Given the description of an element on the screen output the (x, y) to click on. 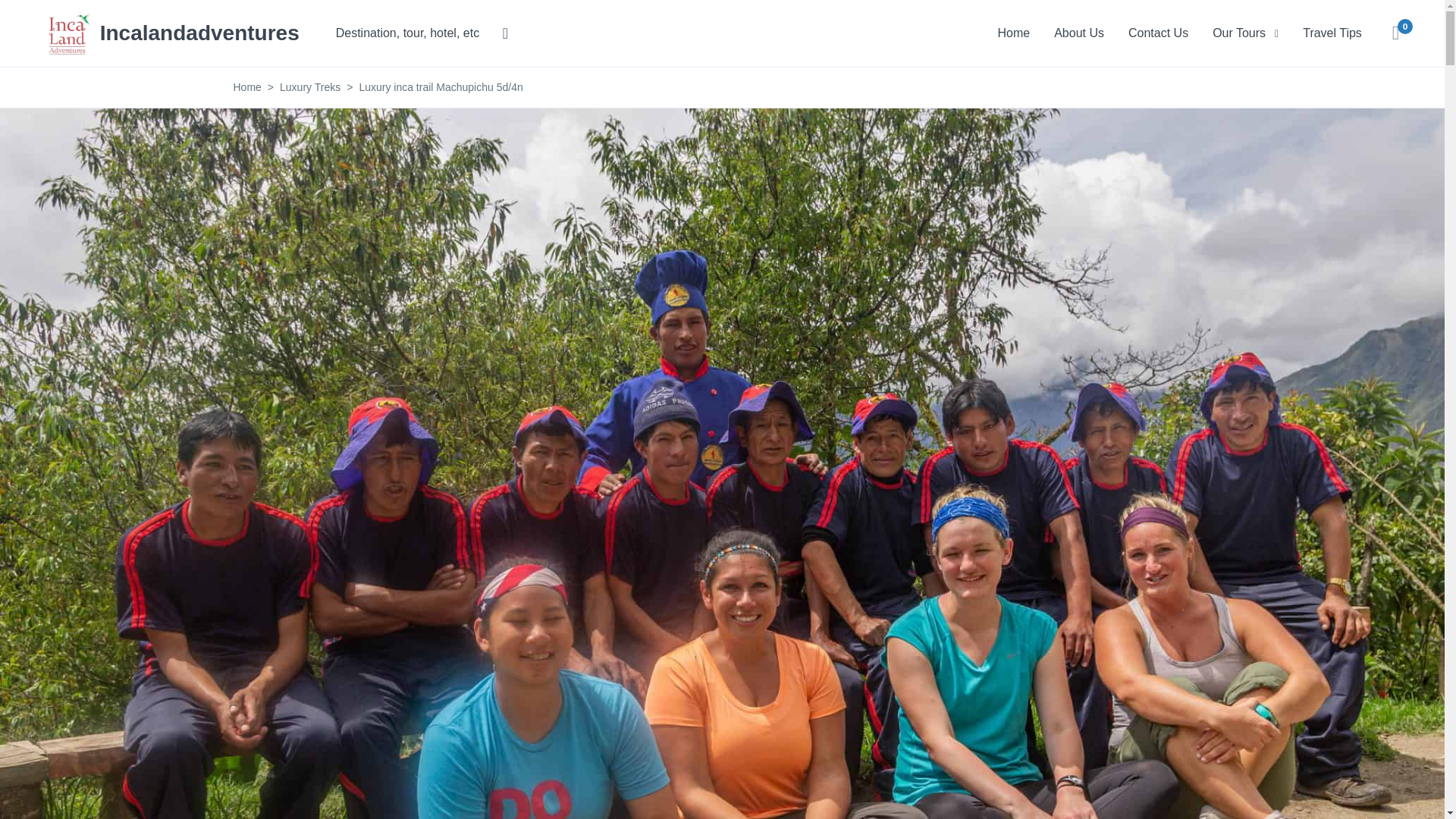
Home (247, 87)
Our Tours (1244, 32)
Incalandadventures (172, 32)
Travel Tips (1332, 32)
Luxury Treks (309, 87)
About Us (1079, 32)
Destination, tour, hotel, etc (422, 33)
About Us (1079, 32)
Home (1013, 32)
Home (1013, 32)
